Given the description of an element on the screen output the (x, y) to click on. 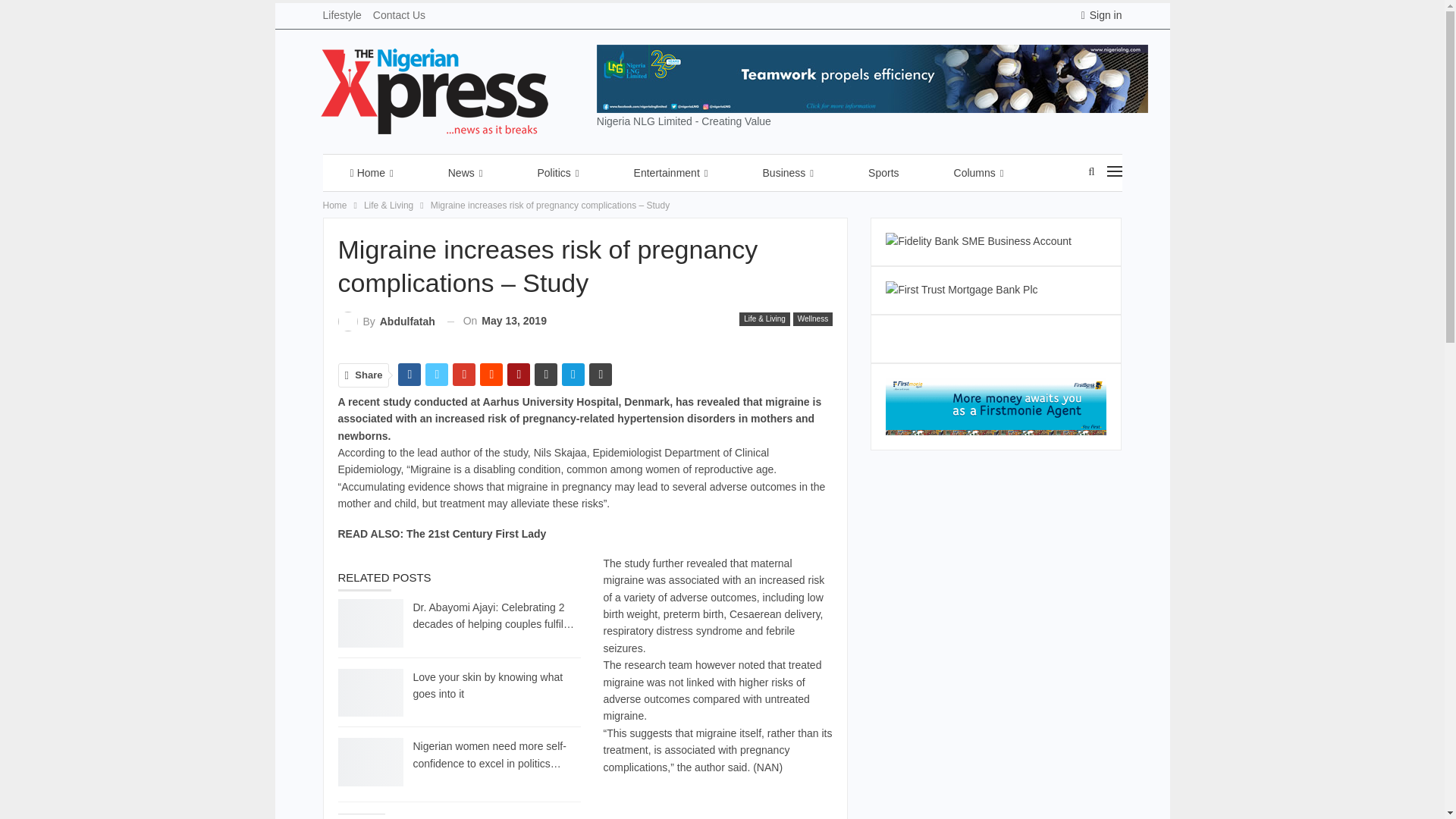
News (465, 172)
Sports (883, 172)
Contact Us (398, 15)
Home (371, 172)
Browse Author Articles (386, 321)
Business (788, 172)
Politics (557, 172)
Wellness (812, 318)
Columns (978, 172)
Entertainment (671, 172)
